Given the description of an element on the screen output the (x, y) to click on. 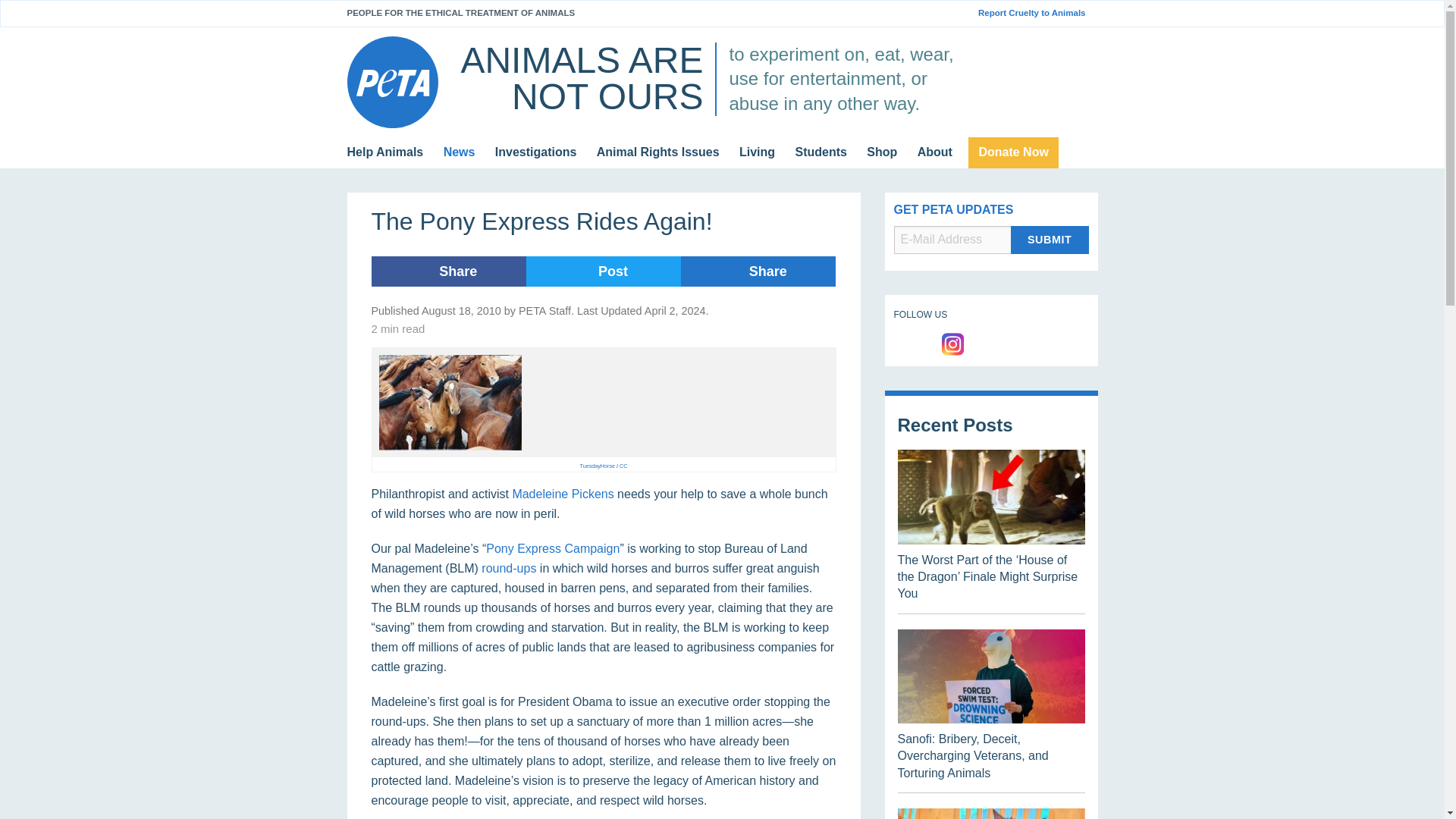
ANIMALS ARE NOT OURS (581, 78)
Report Cruelty to Animals (1037, 13)
Submit (1049, 239)
PEOPLE FOR THE ETHICAL TREATMENT OF ANIMALS (461, 13)
